Given the description of an element on the screen output the (x, y) to click on. 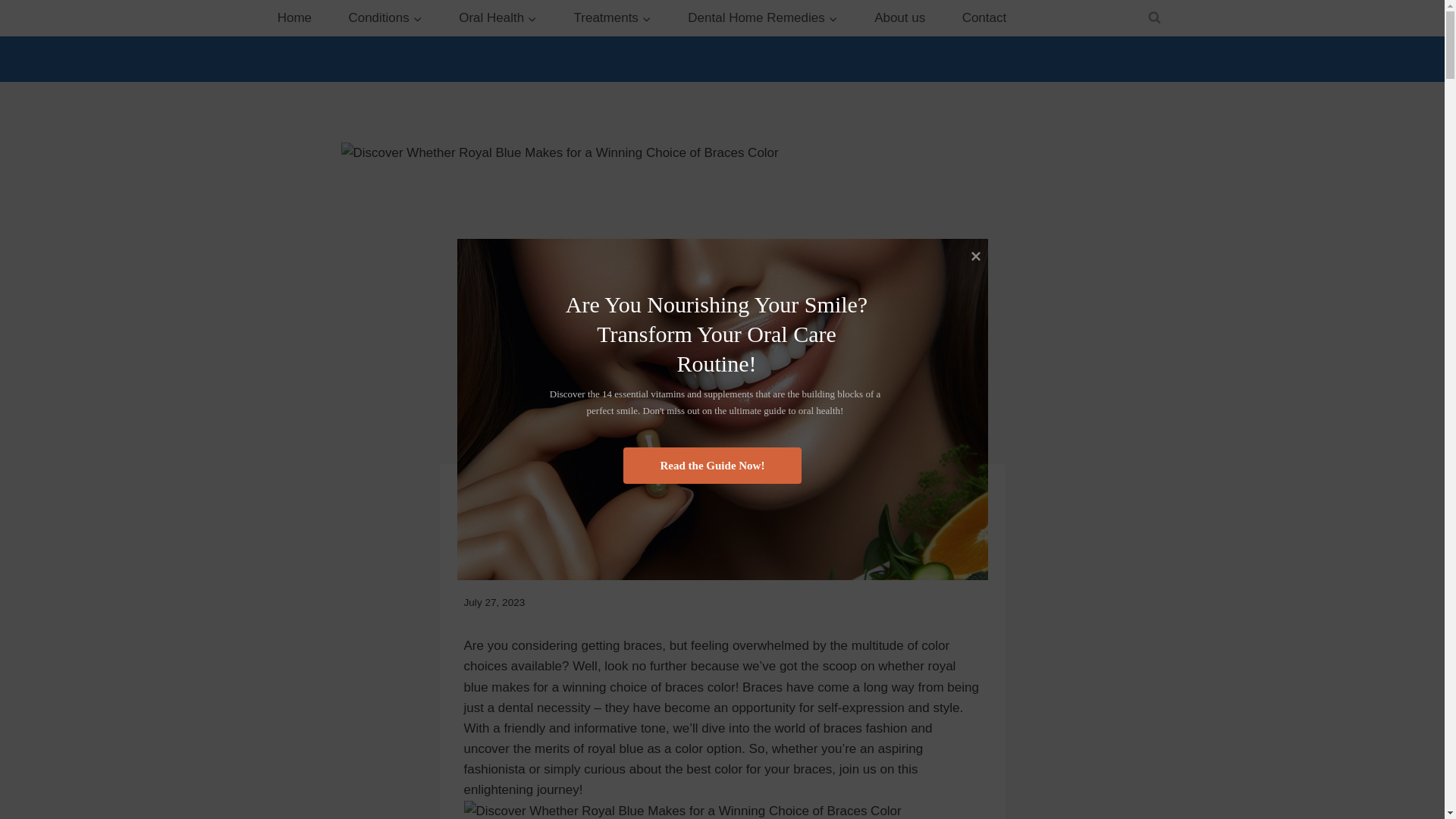
About us (899, 18)
Conditions (384, 18)
BRACES (484, 494)
TREATMENTS (545, 494)
Dental Home Remedies (762, 18)
Home (294, 18)
Oral Health (497, 18)
Contact (983, 18)
Treatments (612, 18)
